Given the description of an element on the screen output the (x, y) to click on. 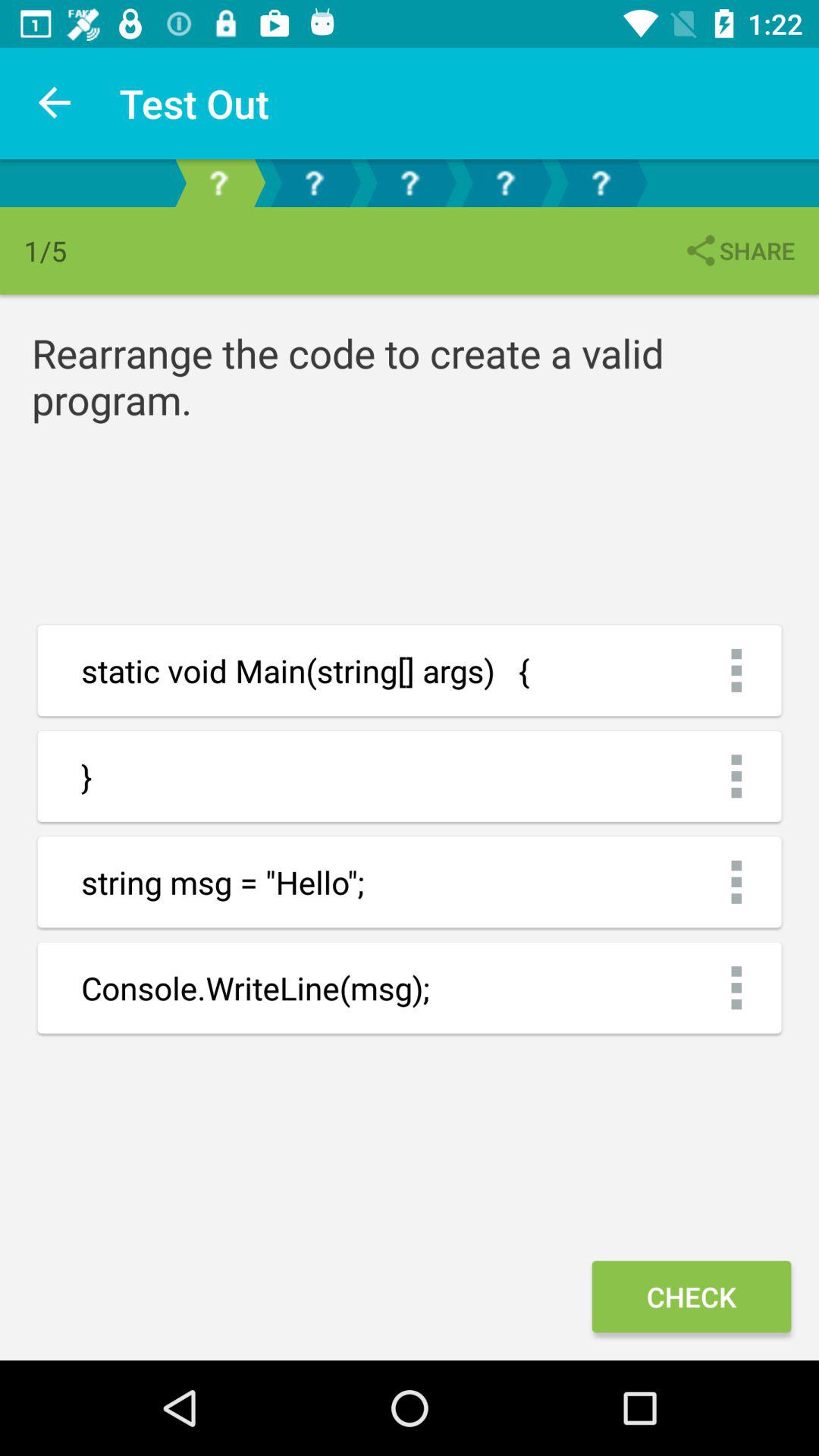
click the icon next to the test out item (55, 103)
